Given the description of an element on the screen output the (x, y) to click on. 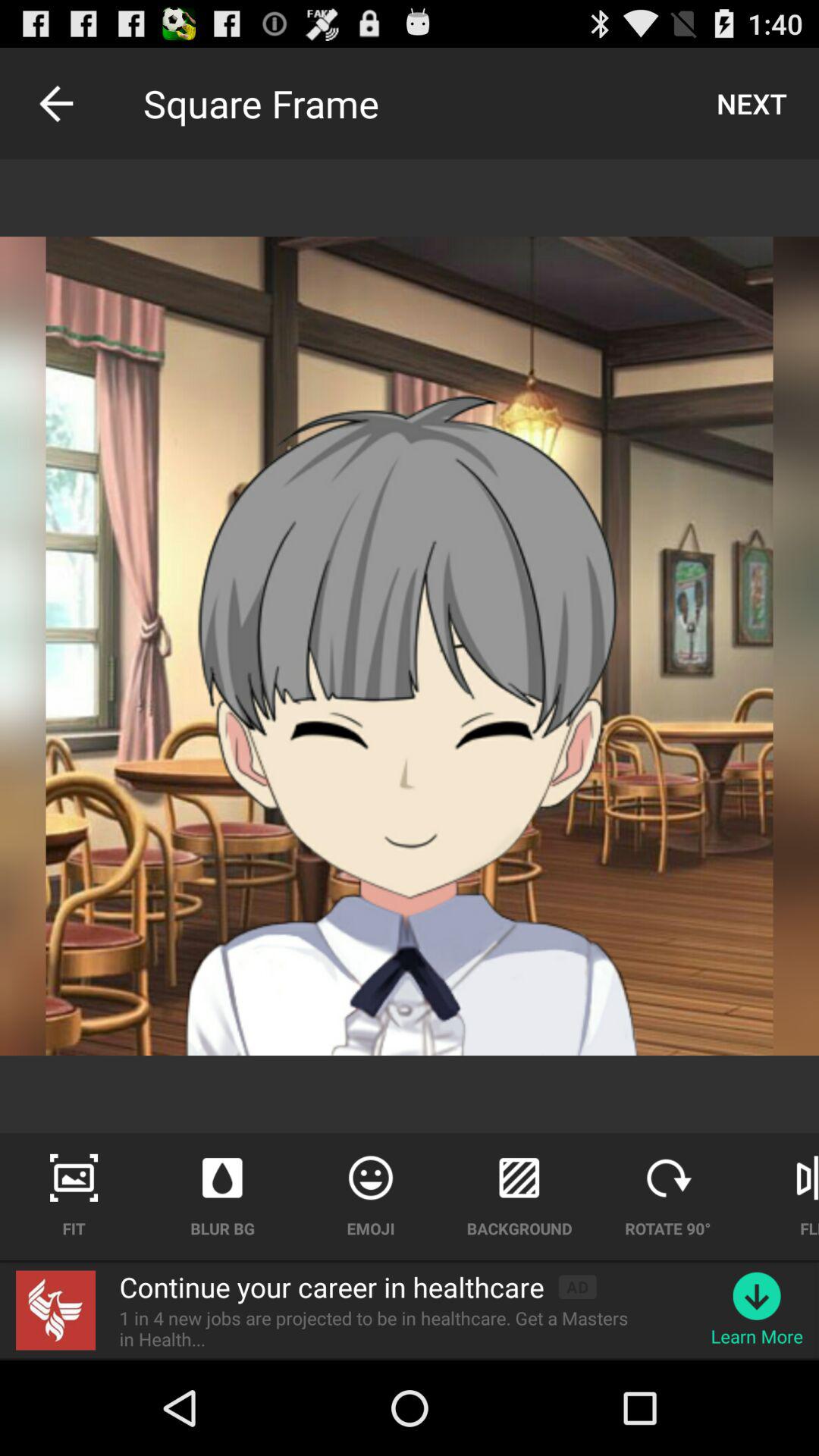
select item to the left of continue your career icon (55, 1310)
